Given the description of an element on the screen output the (x, y) to click on. 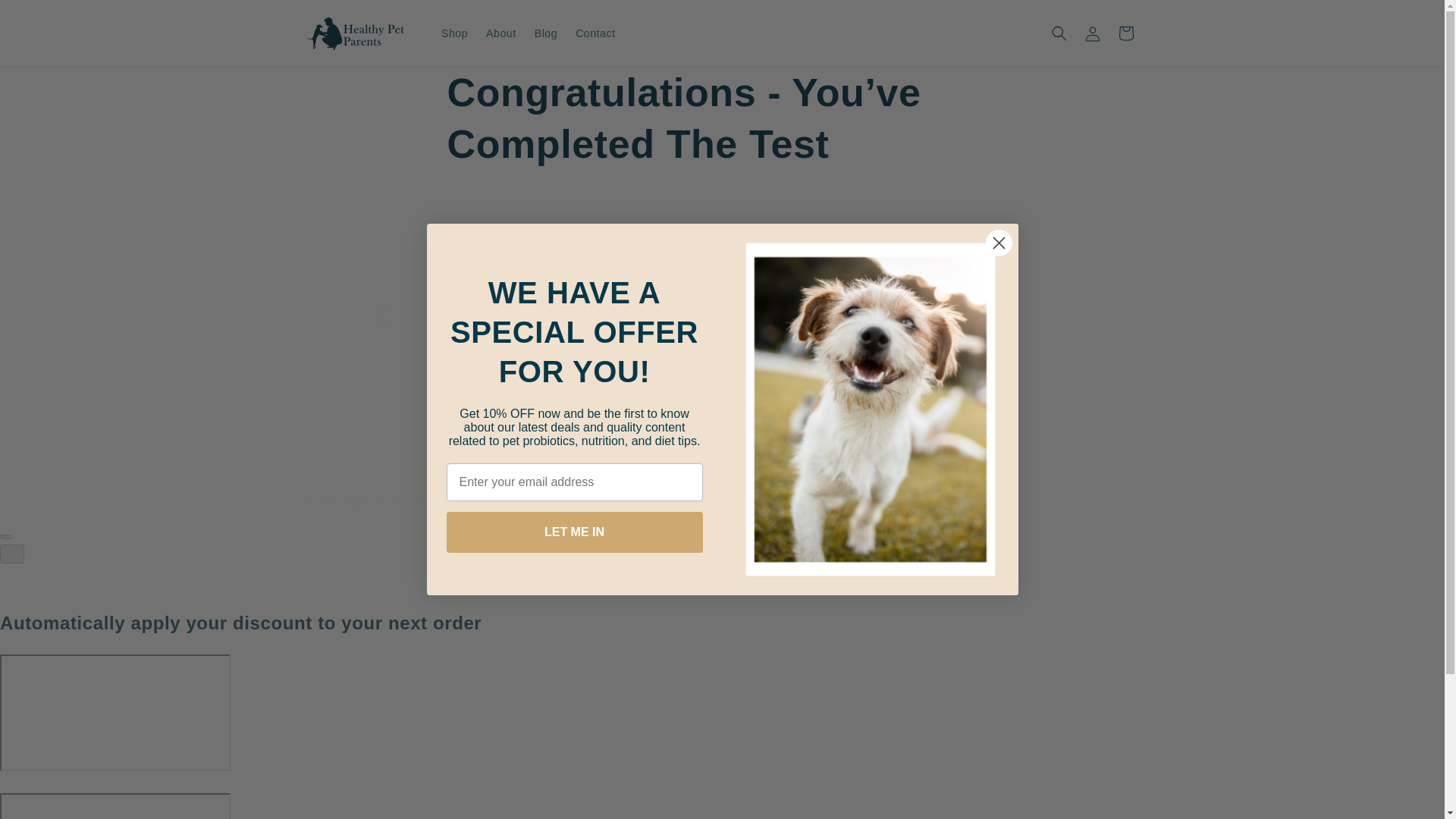
LET ME IN (573, 531)
Shop (454, 33)
Cart (1124, 32)
Skip to content (45, 17)
Close dialog 1 (998, 243)
Healthy Pet Parents (382, 501)
Blog (545, 33)
Privacy Policy (761, 383)
About (501, 33)
About (530, 332)
Close dialog 1 (617, 347)
Contact (998, 243)
Contact (744, 332)
